Given the description of an element on the screen output the (x, y) to click on. 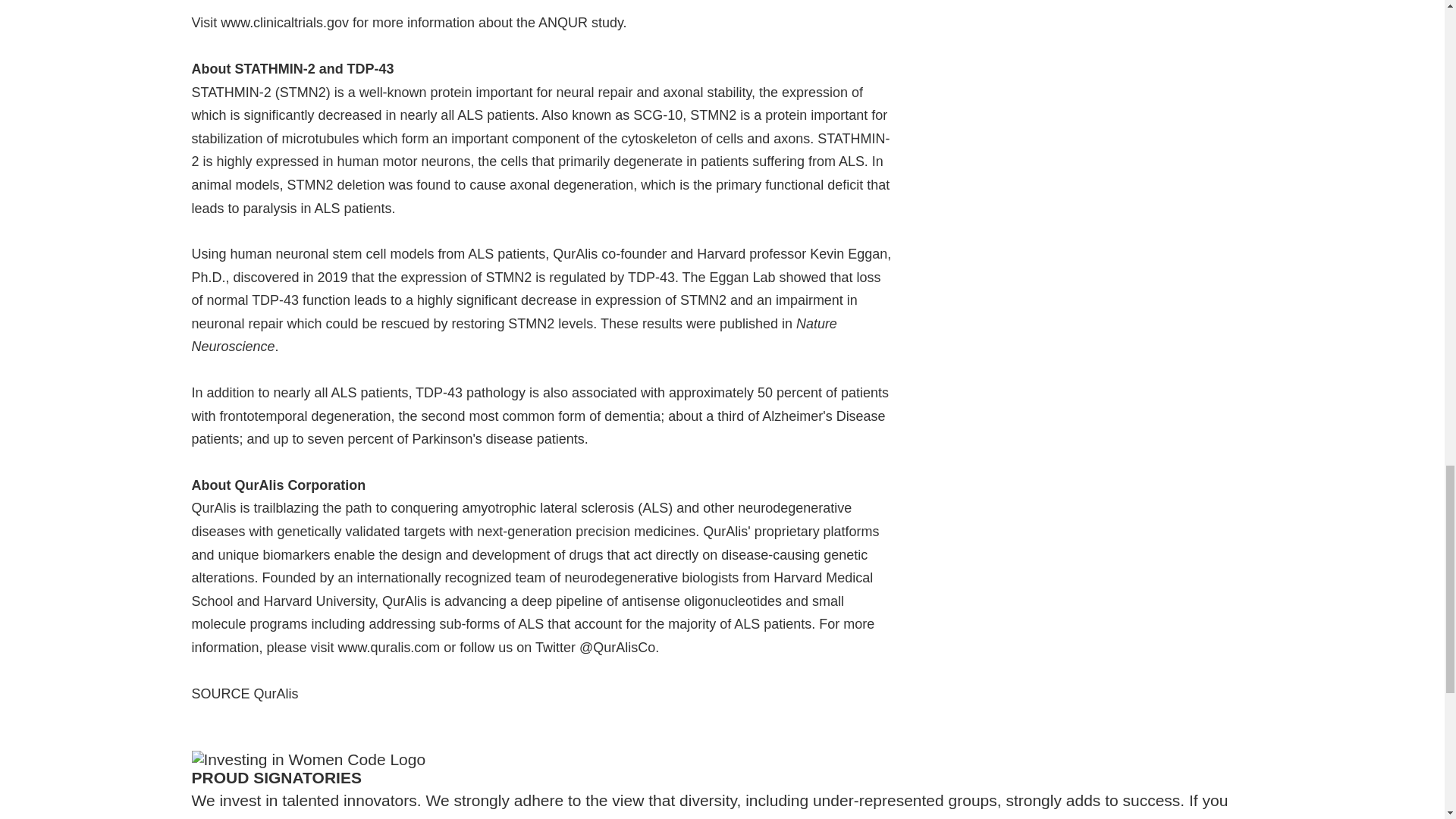
Nature Neuroscience (512, 335)
www.clinicaltrials.gov (285, 22)
www.quralis.com (388, 647)
